Given the description of an element on the screen output the (x, y) to click on. 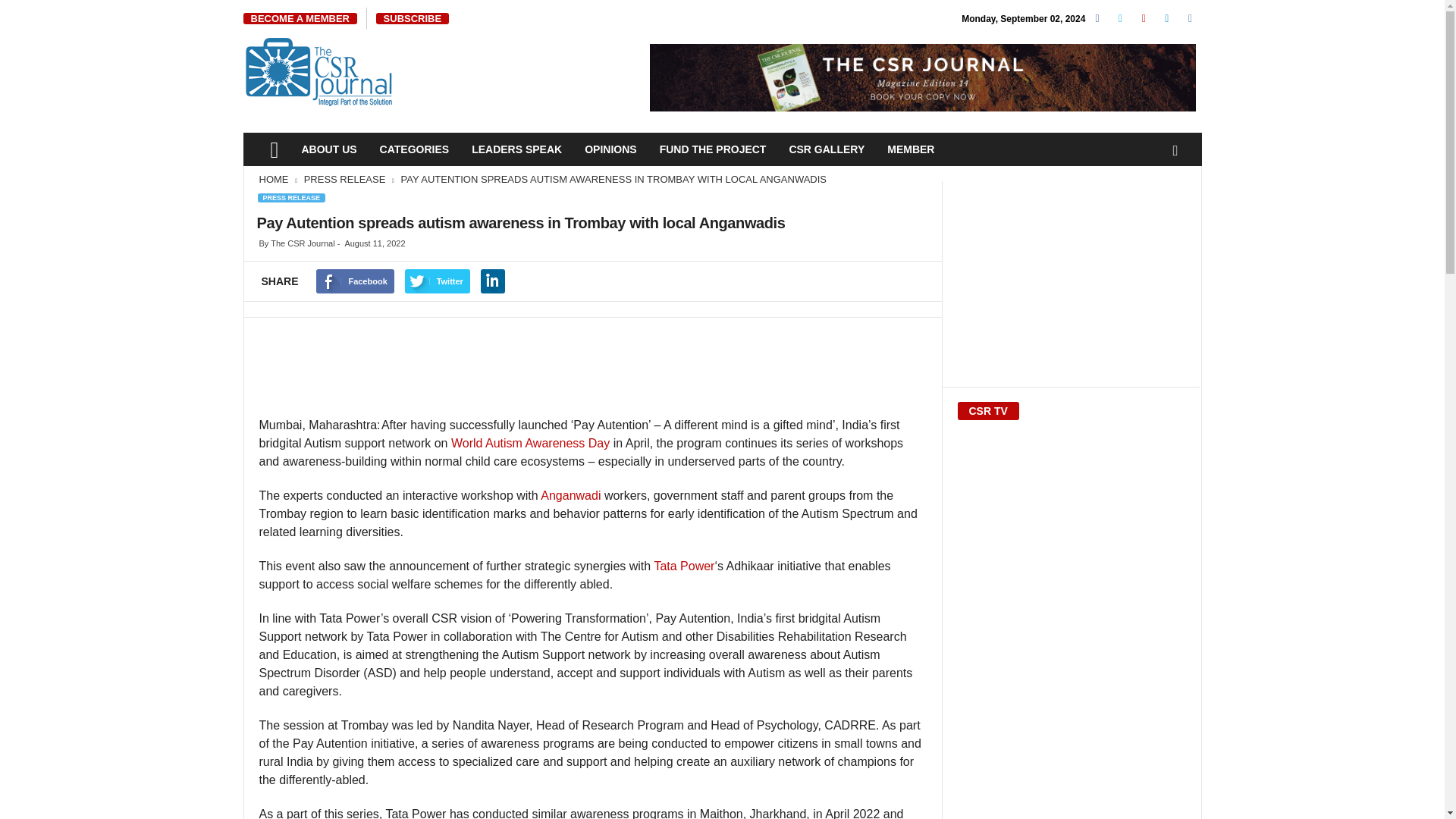
SUBSCRIBE (412, 18)
View all posts in Press Release (346, 179)
BECOME A MEMBER (299, 18)
